Given the description of an element on the screen output the (x, y) to click on. 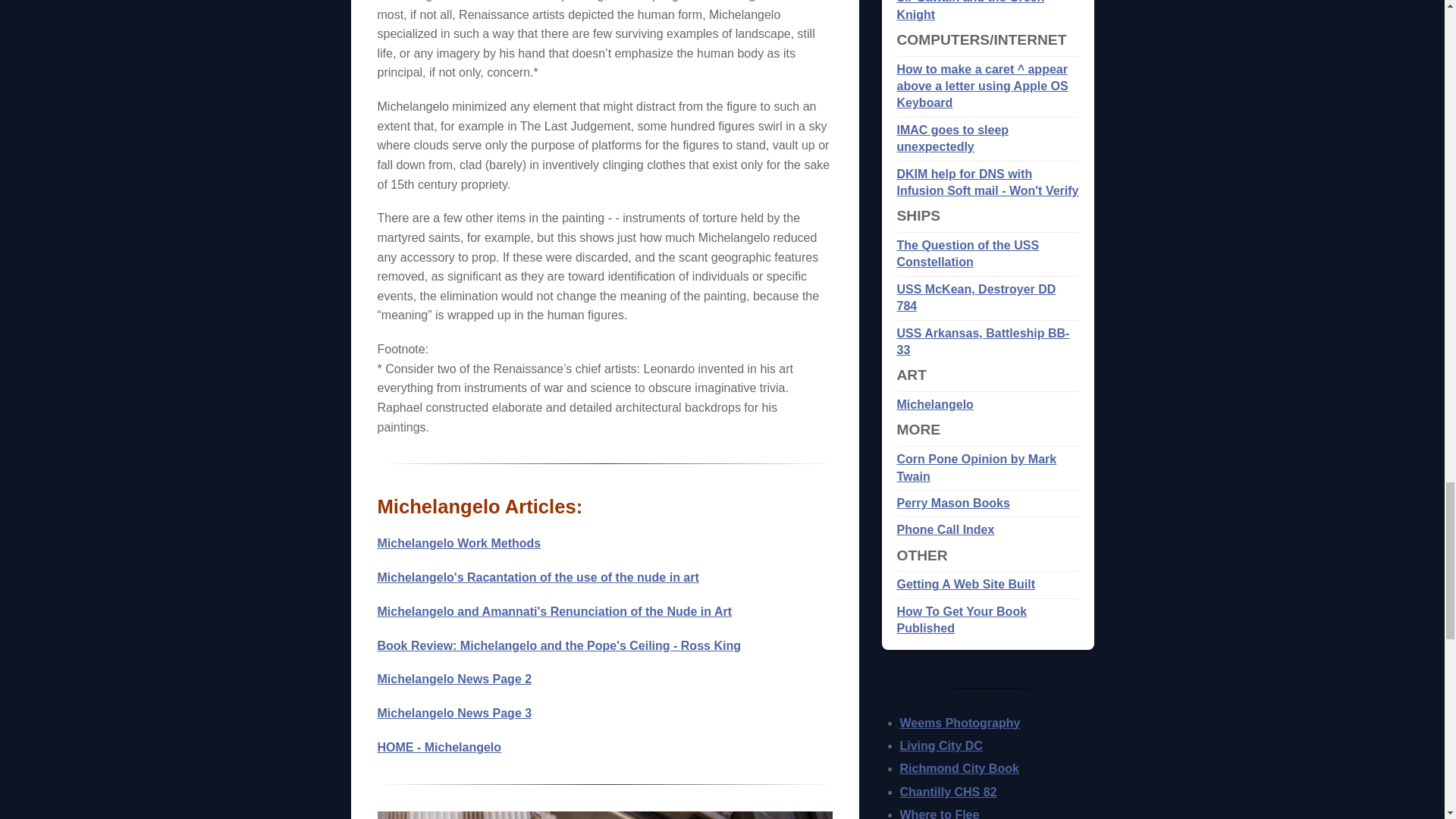
Sir Gawain and the Green Knight (969, 10)
HOME - Michelangelo (439, 747)
Weems Photography (959, 722)
Perry Mason Books (952, 502)
Book Review: Michelangelo and the Pope's Ceiling - Ross King (559, 645)
Michelangelo News Page 2 (454, 678)
IMAC goes to sleep unexpectedly (952, 138)
How To Get Your Book Published (961, 619)
Corn Pone Opinion by Mark Twain (976, 467)
Getting A Web Site Built (965, 584)
IMAC goes to sleep unexpectedly (952, 138)
Phone Call Index (945, 529)
Michelangelo (934, 404)
Corn Pone Opinion by Mark Twain (976, 467)
DKIM help for DNS with Infusion Soft mail - Won't Verify (987, 182)
